Given the description of an element on the screen output the (x, y) to click on. 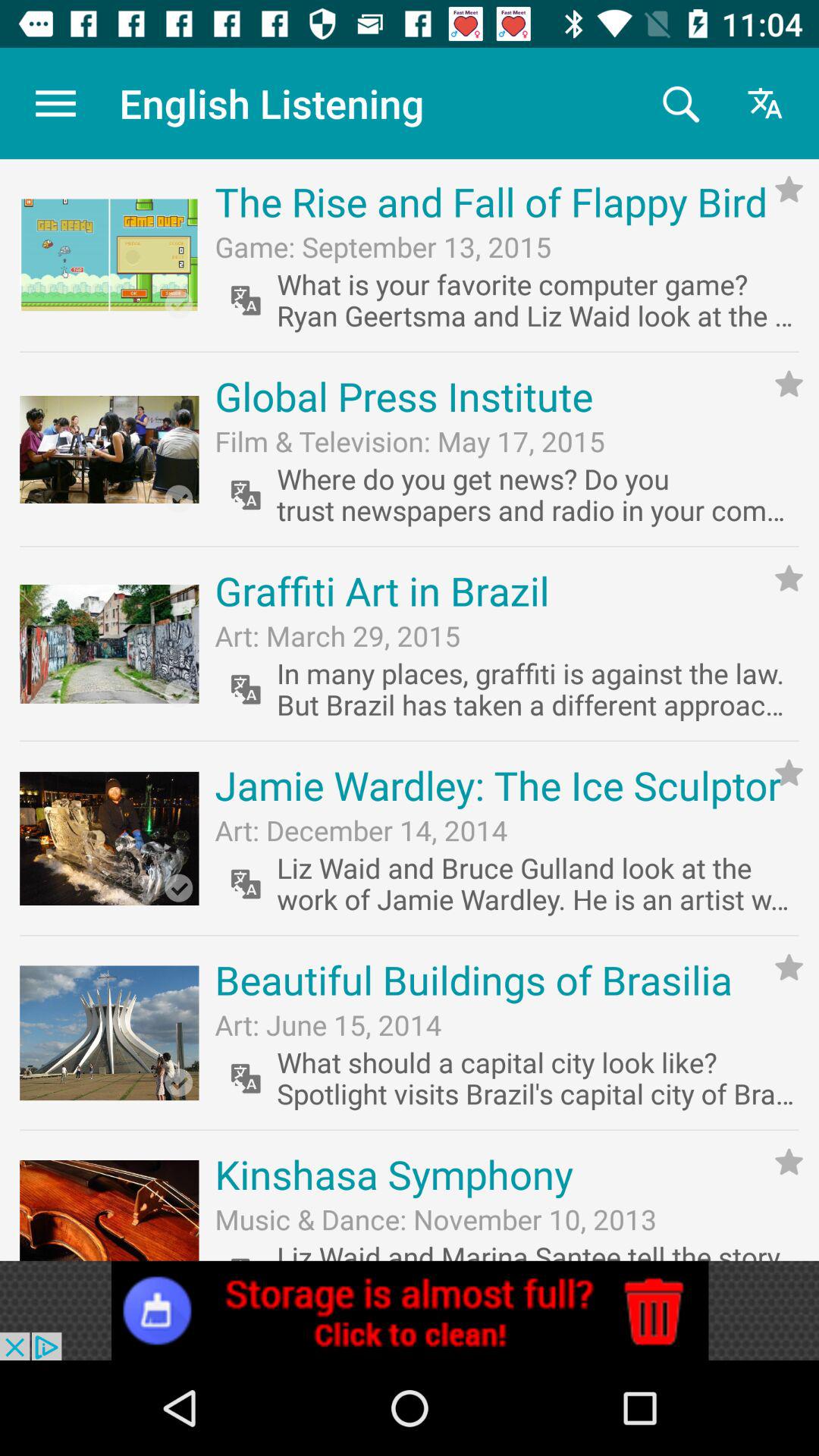
add banner (409, 1310)
